Given the description of an element on the screen output the (x, y) to click on. 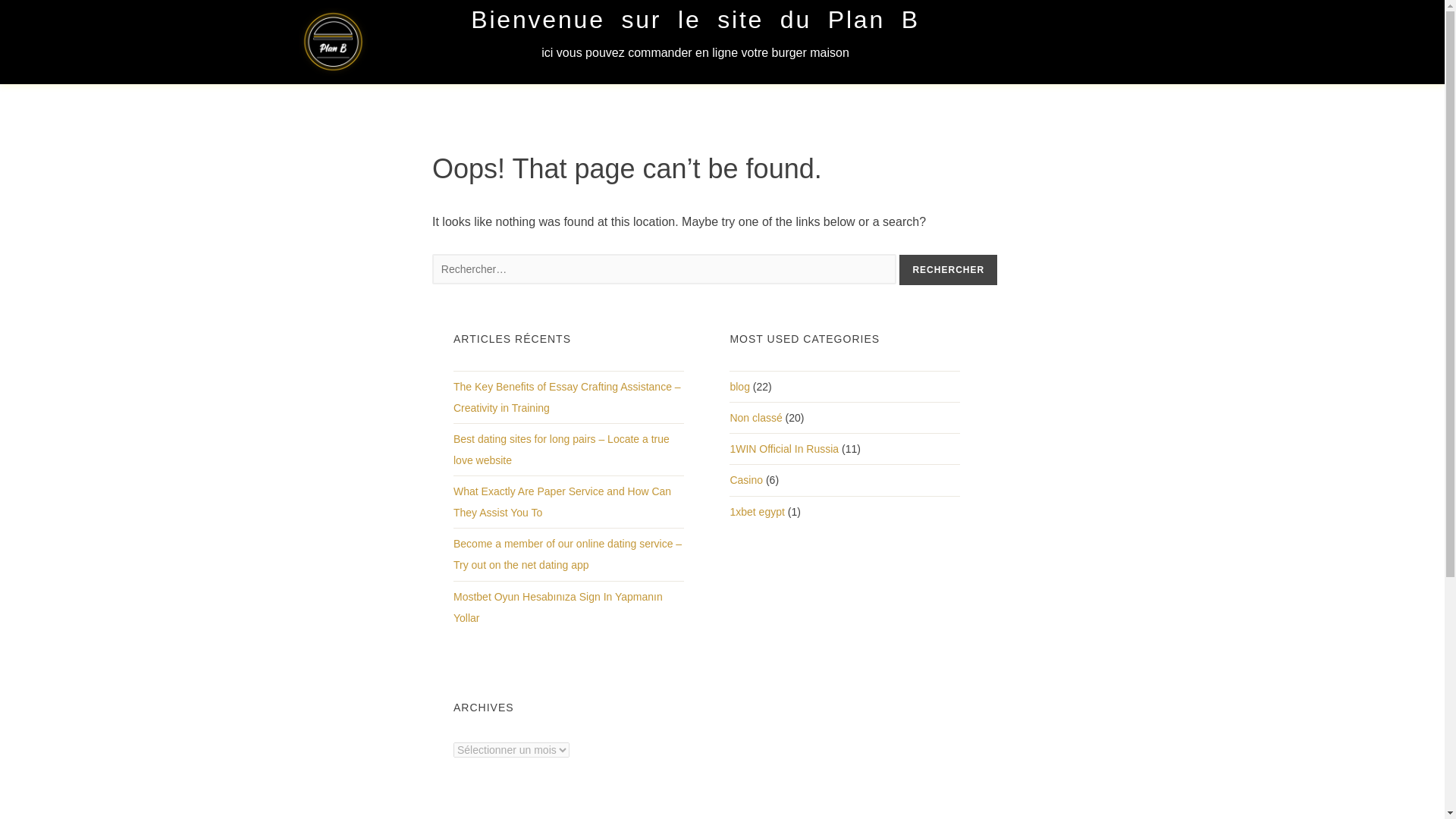
Rechercher (948, 269)
blog (739, 386)
1xbet egypt (756, 512)
Rechercher (948, 269)
Rechercher (948, 269)
1WIN Official In Russia (783, 449)
Casino (745, 480)
